Given the description of an element on the screen output the (x, y) to click on. 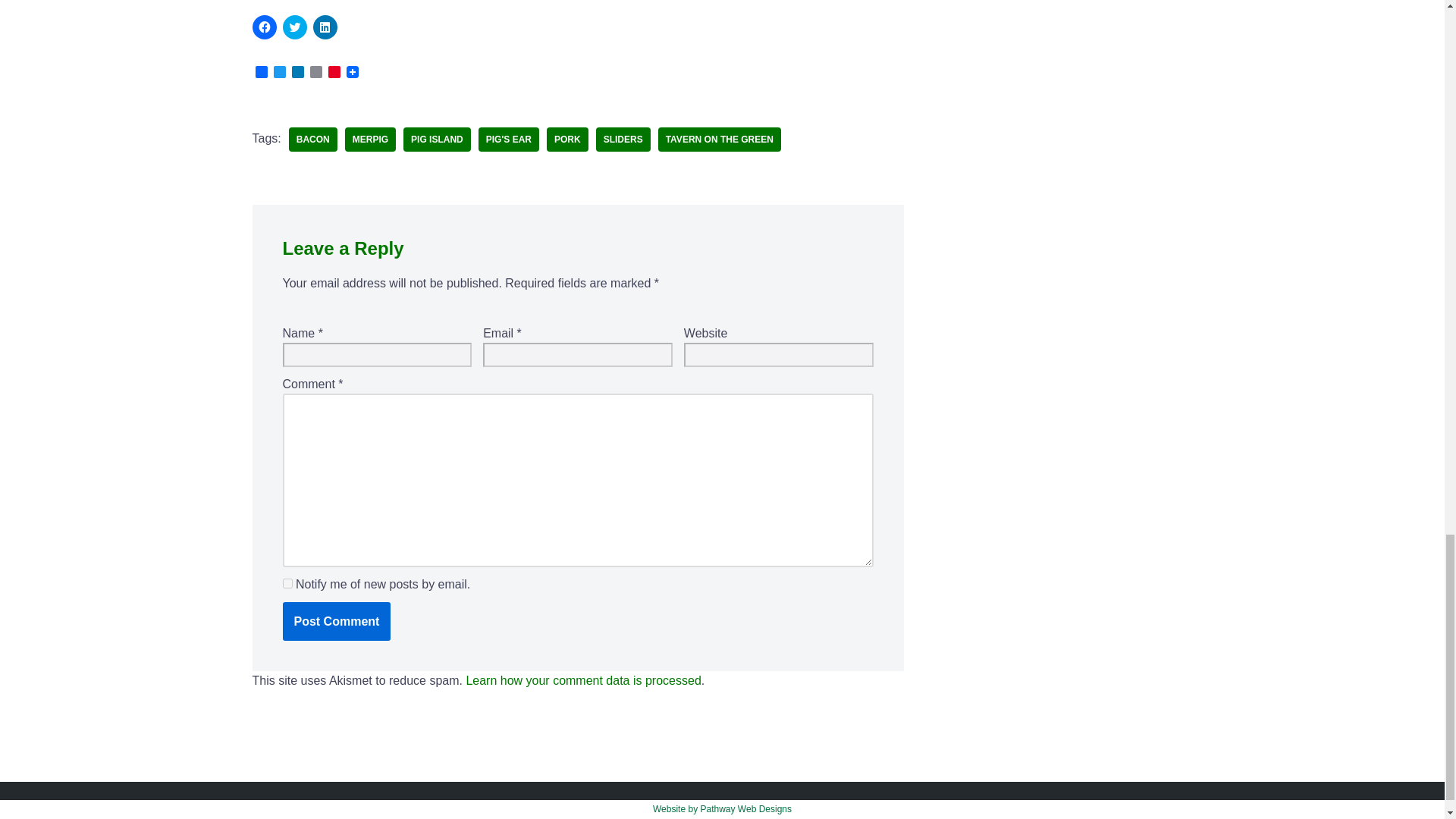
LinkedIn (296, 73)
Click to share on Twitter (293, 27)
subscribe (287, 583)
Pinterest (333, 73)
Print (314, 73)
Facebook (260, 73)
bacon (312, 139)
merpig (370, 139)
Click to share on Facebook (263, 27)
Twitter (278, 73)
